Given the description of an element on the screen output the (x, y) to click on. 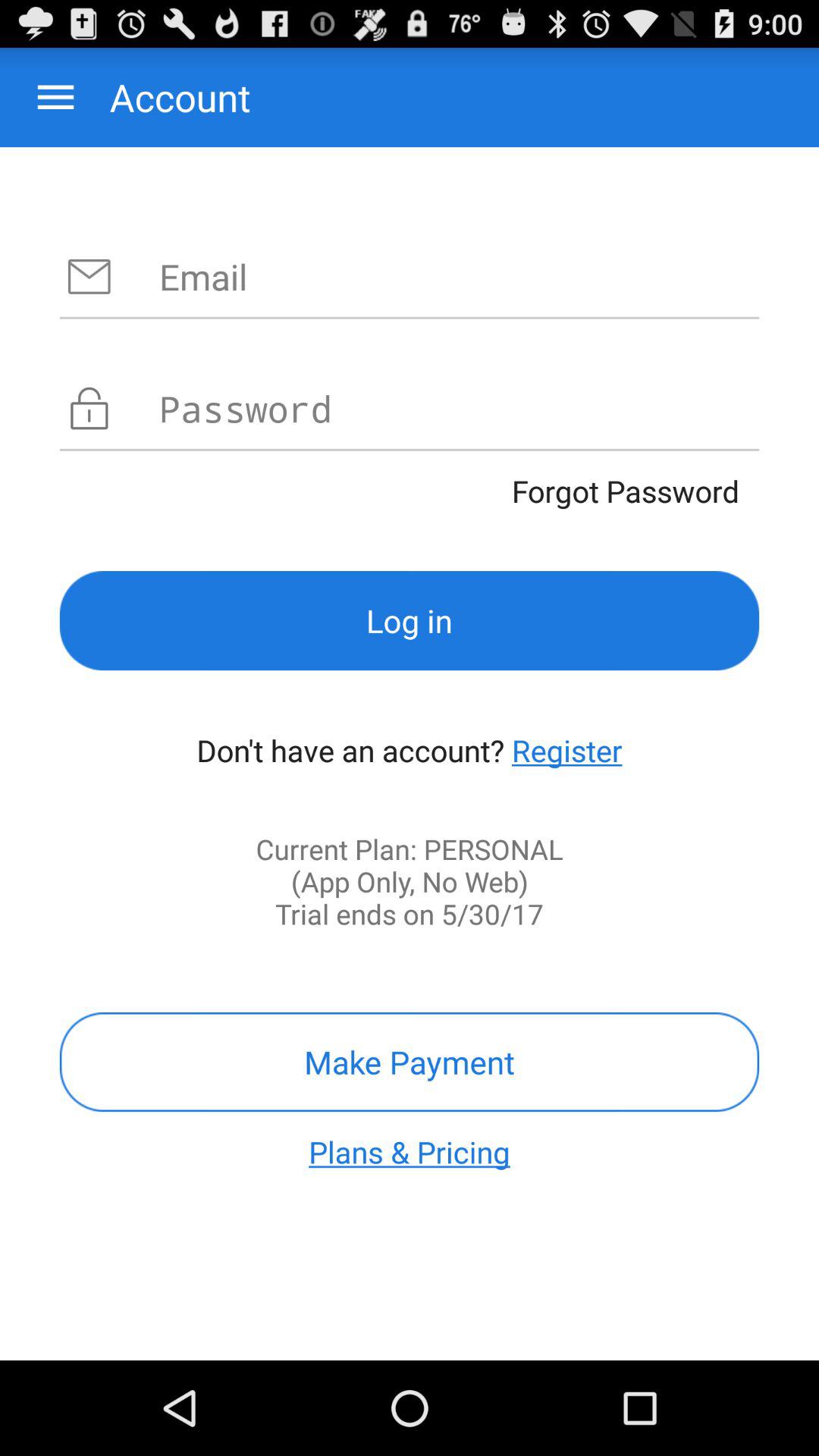
enter email (459, 276)
